Given the description of an element on the screen output the (x, y) to click on. 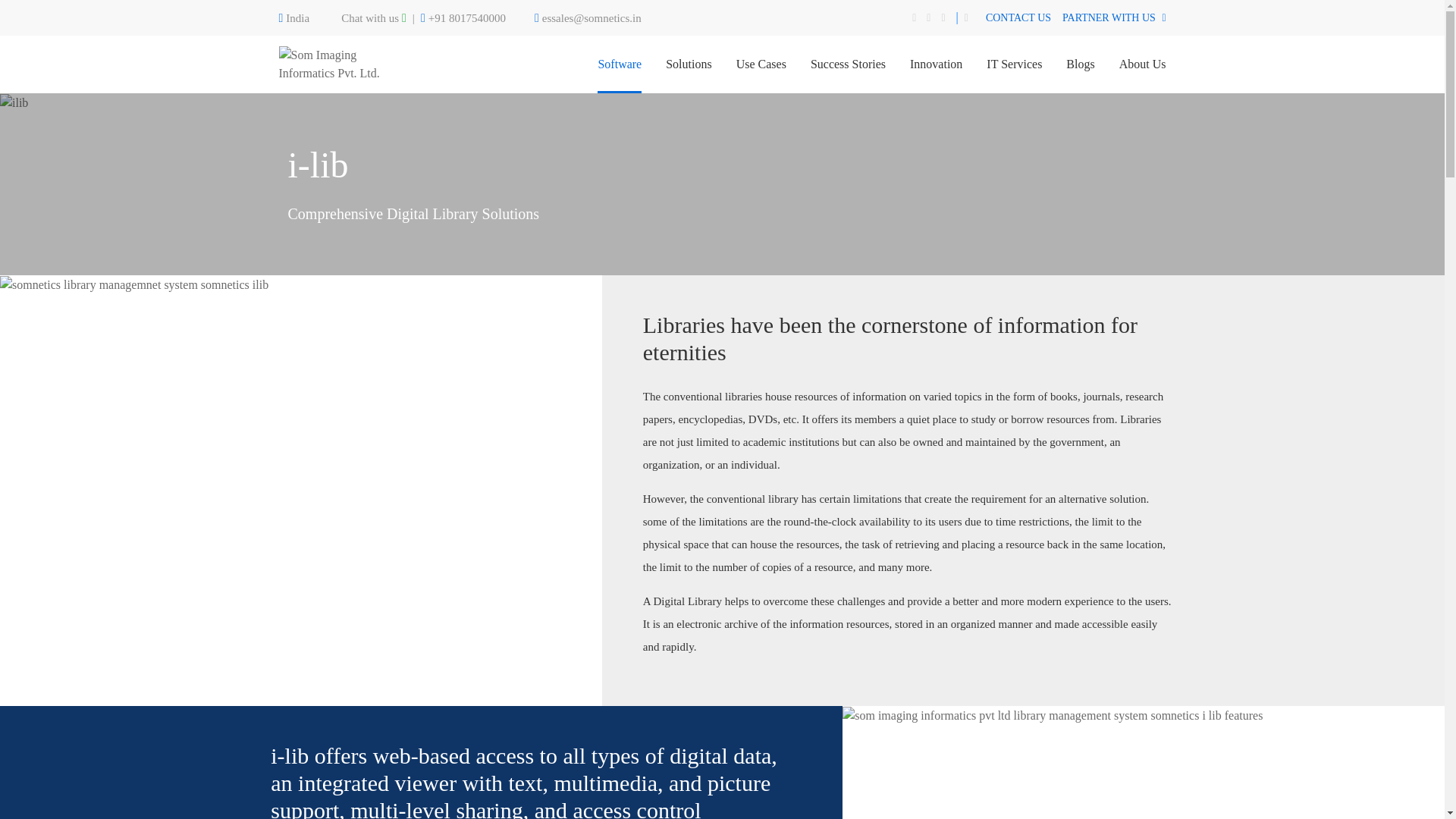
PARTNER WITH US (1114, 17)
Software (619, 64)
Blogs (1079, 64)
IT Services (1014, 64)
Chat with us (373, 18)
Success Stories (847, 64)
CONTACT US (1018, 17)
Use Cases (761, 64)
About Us (1142, 64)
Solutions (688, 64)
Innovation (936, 64)
